Given the description of an element on the screen output the (x, y) to click on. 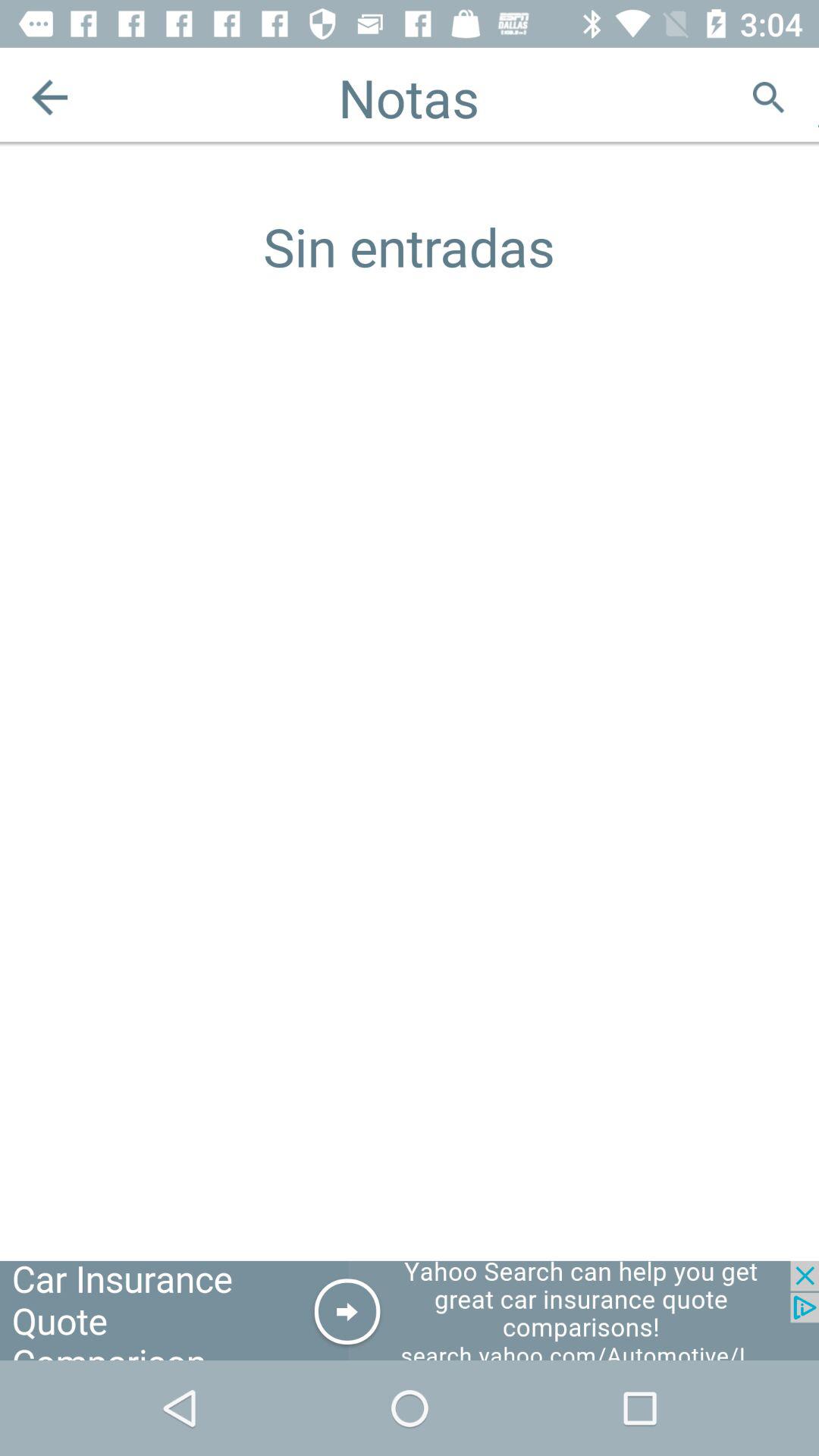
advertisement (409, 1310)
